Given the description of an element on the screen output the (x, y) to click on. 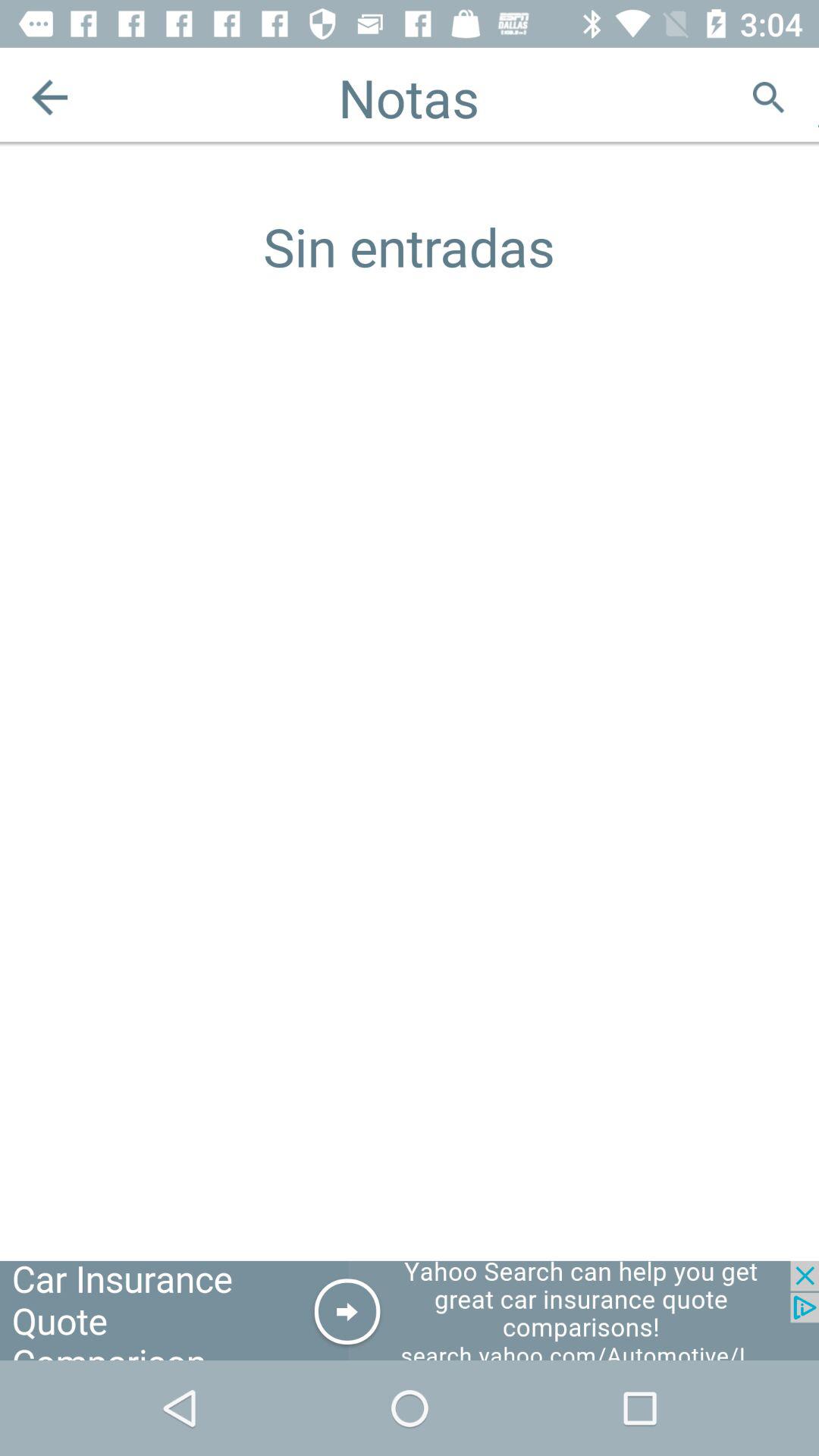
advertisement (409, 1310)
